Given the description of an element on the screen output the (x, y) to click on. 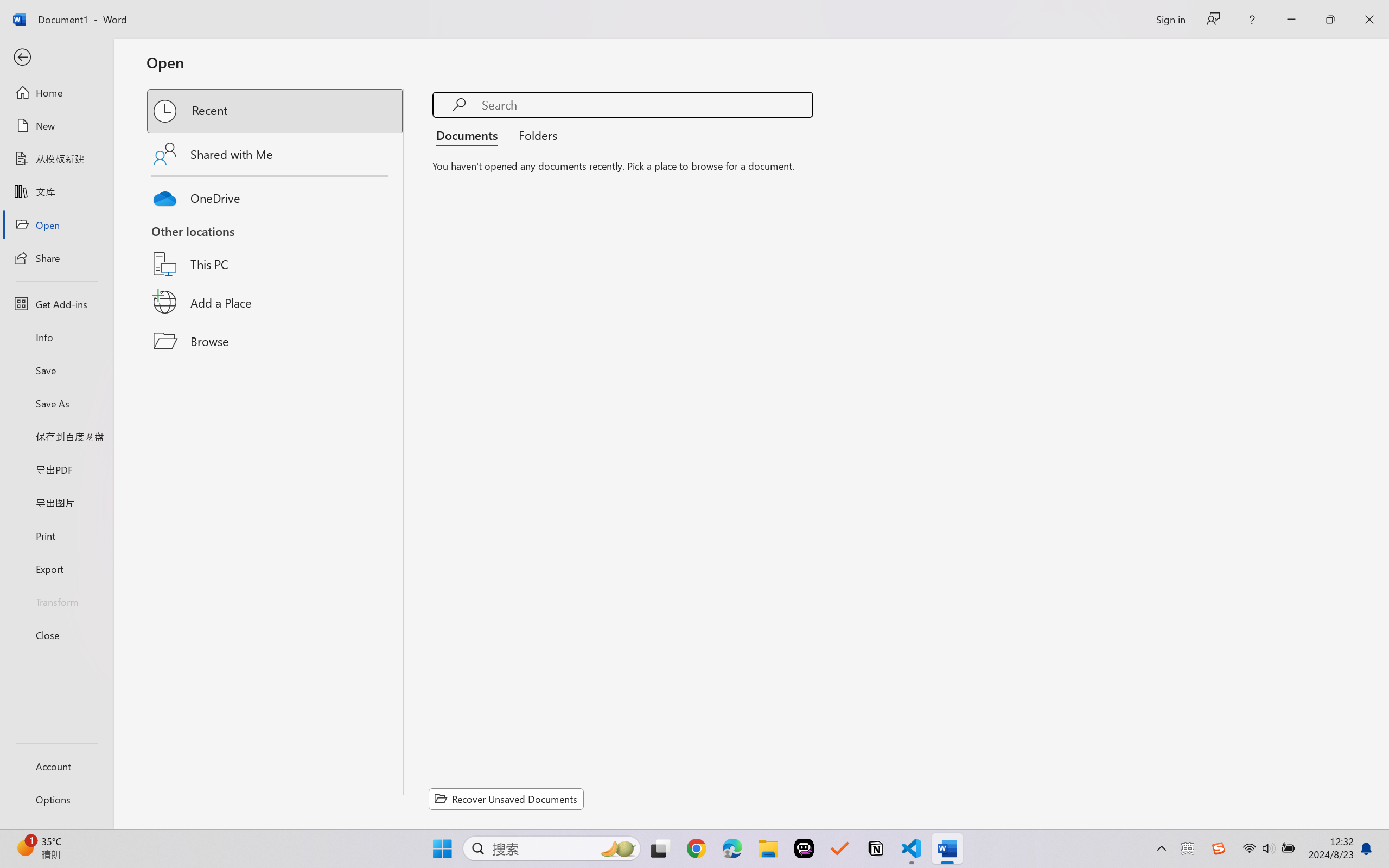
Account (56, 765)
Back (56, 57)
Shared with Me (275, 153)
OneDrive (275, 195)
Print (56, 535)
Add a Place (275, 302)
Browse (275, 340)
This PC (275, 249)
